Given the description of an element on the screen output the (x, y) to click on. 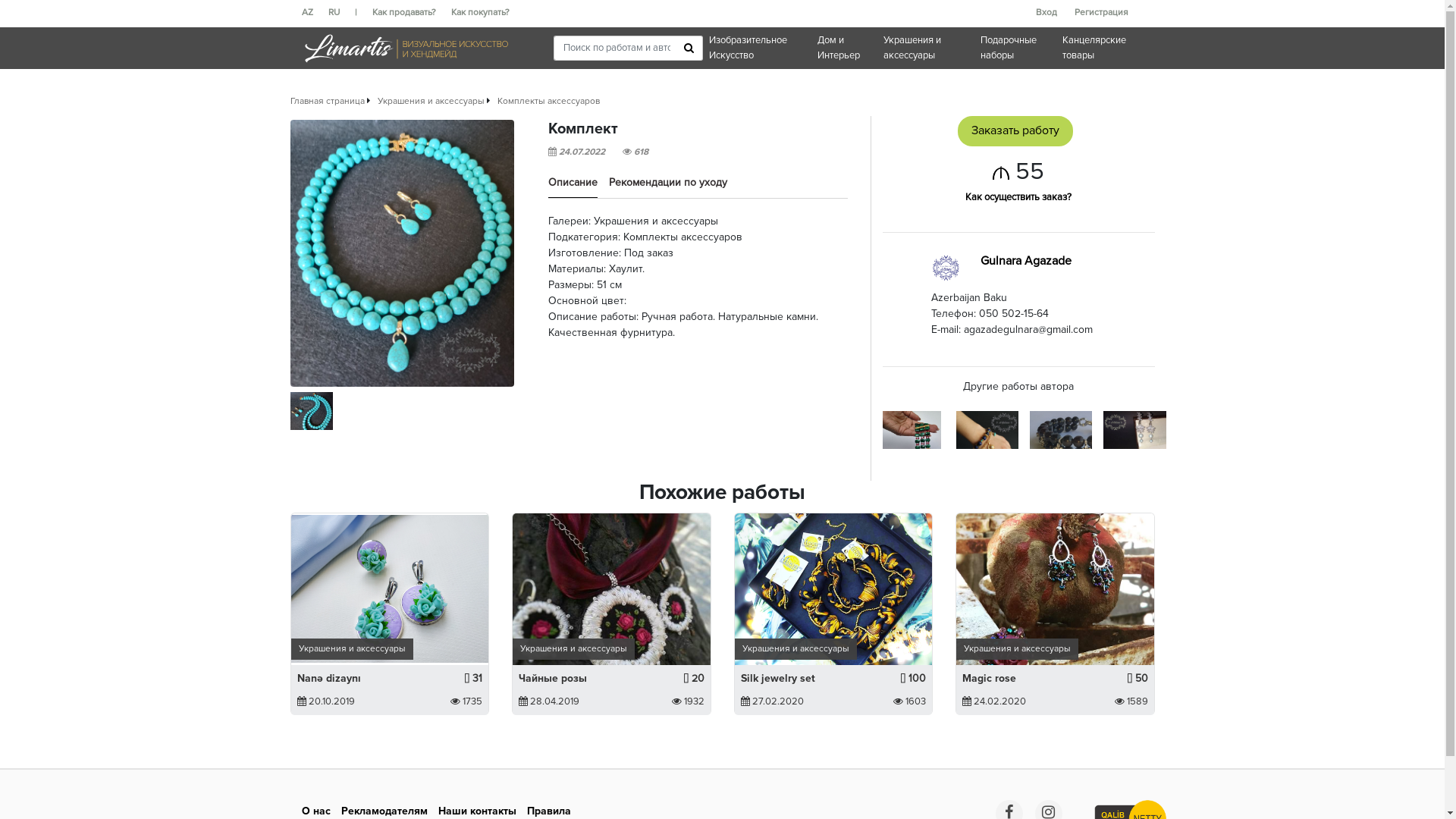
| Element type: text (363, 12)
RU Element type: text (340, 12)
Gulnara Agazade Element type: text (1025, 261)
AZ Element type: text (314, 12)
